Given the description of an element on the screen output the (x, y) to click on. 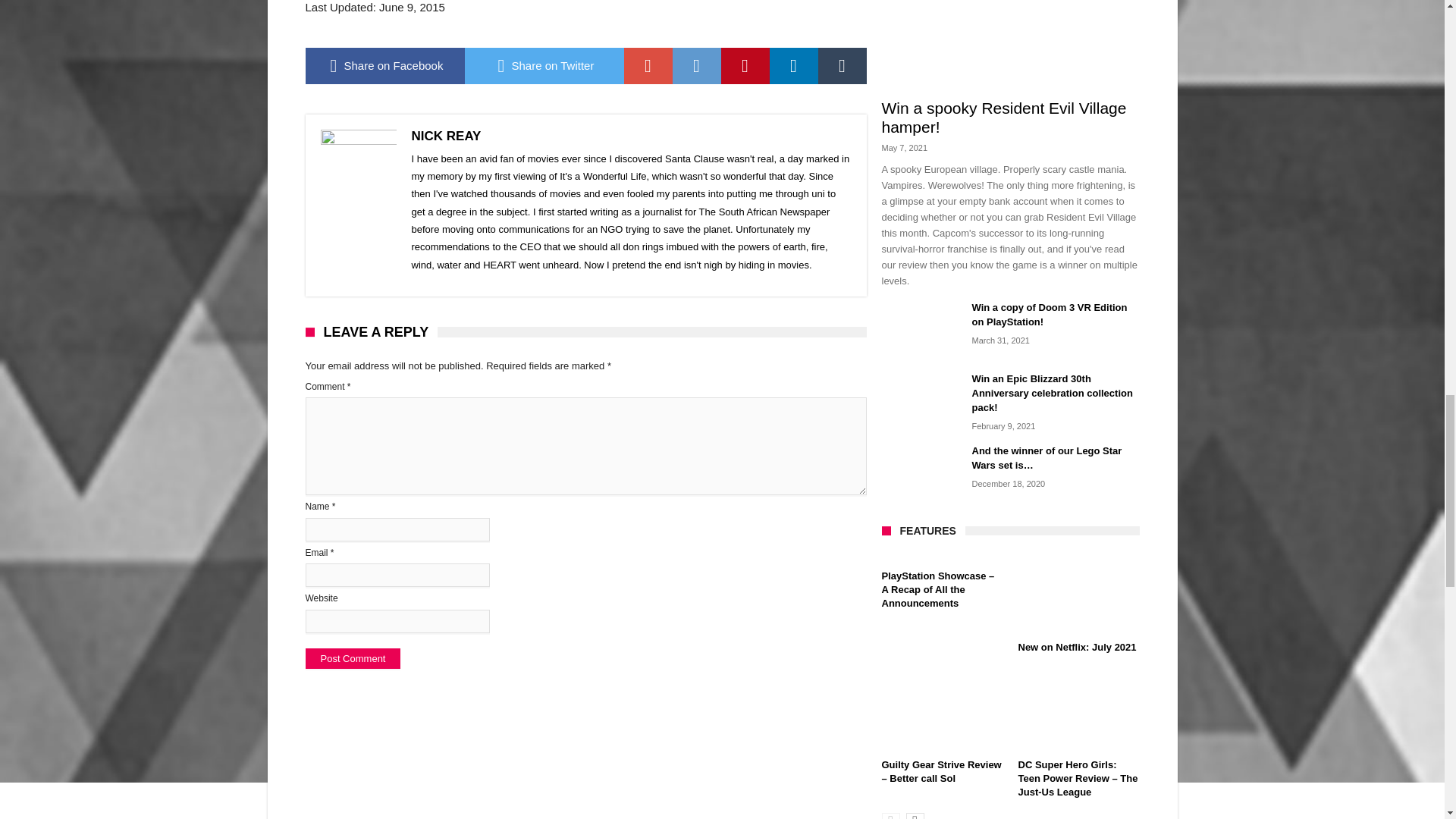
Share on Reddit (695, 64)
Share on Tumblr (841, 64)
Share on Linkedin (792, 64)
Share on Pinterest (744, 64)
Post Comment (352, 658)
Share on Facebook (384, 64)
Share on Twitter (543, 64)
NICK REAY (445, 135)
